Given the description of an element on the screen output the (x, y) to click on. 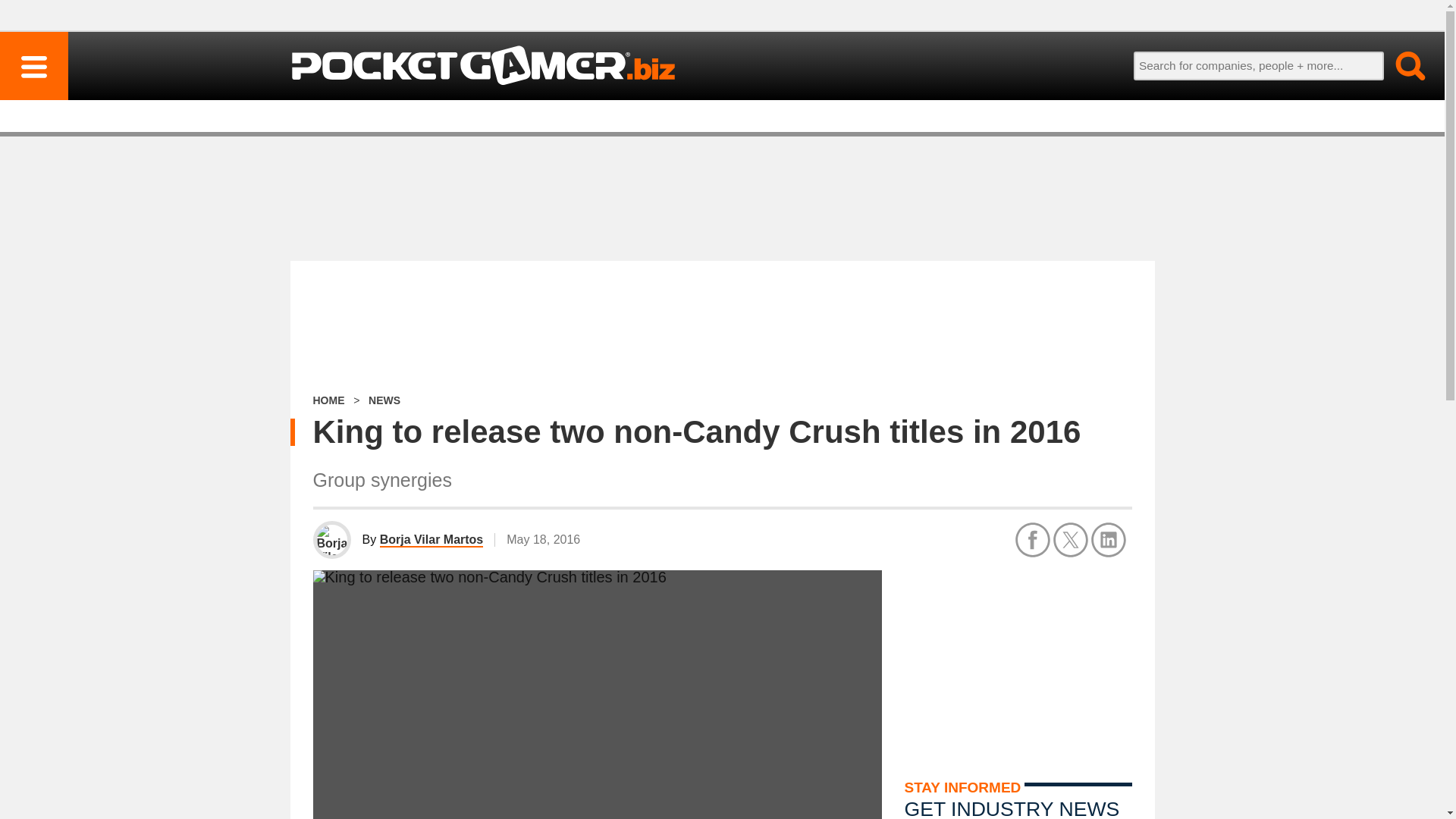
NEWS (384, 400)
Go (1402, 65)
Borja Vilar Martos (431, 540)
Go (1402, 65)
HOME (328, 400)
